Given the description of an element on the screen output the (x, y) to click on. 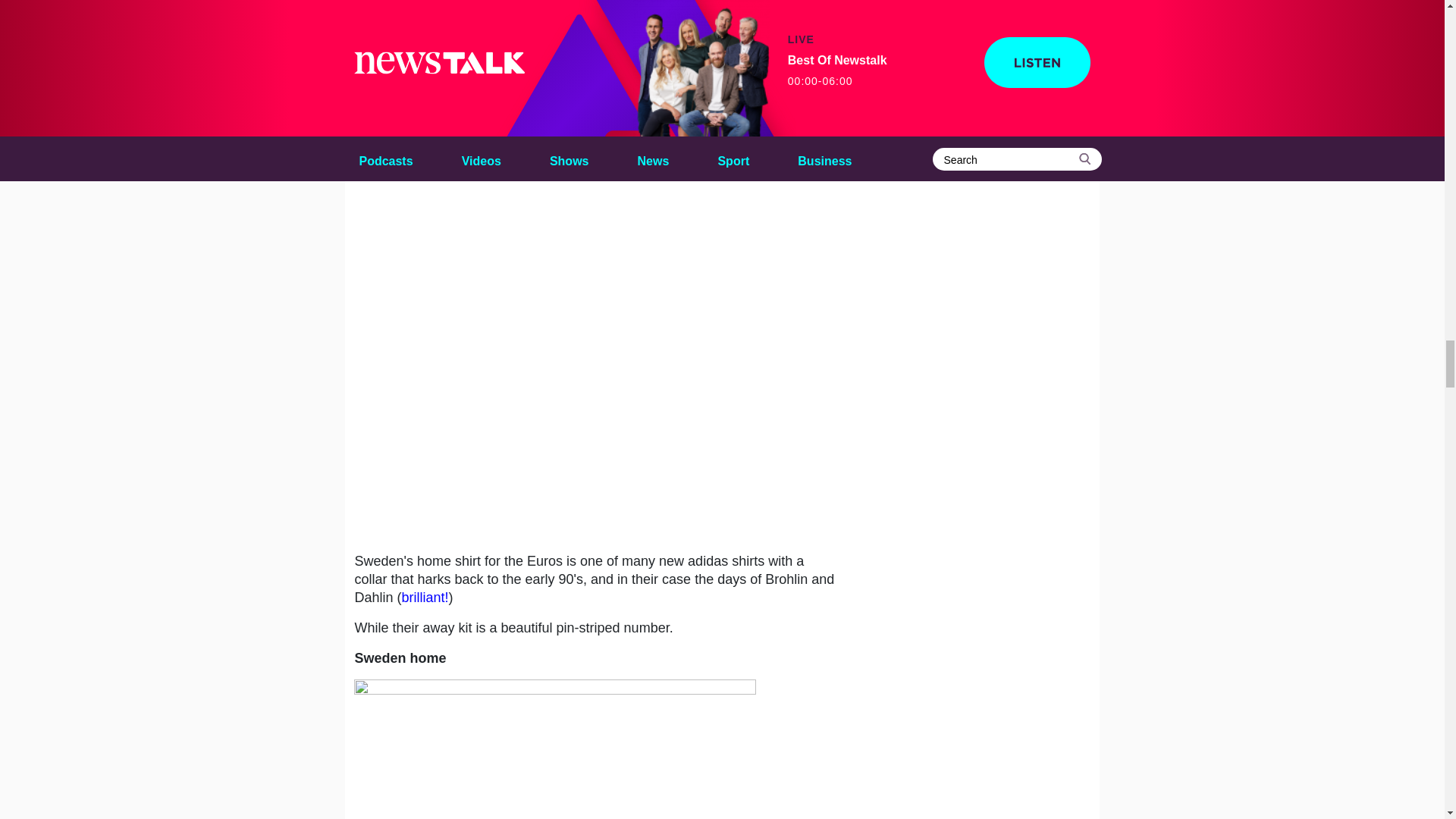
brilliant! (424, 597)
